Given the description of an element on the screen output the (x, y) to click on. 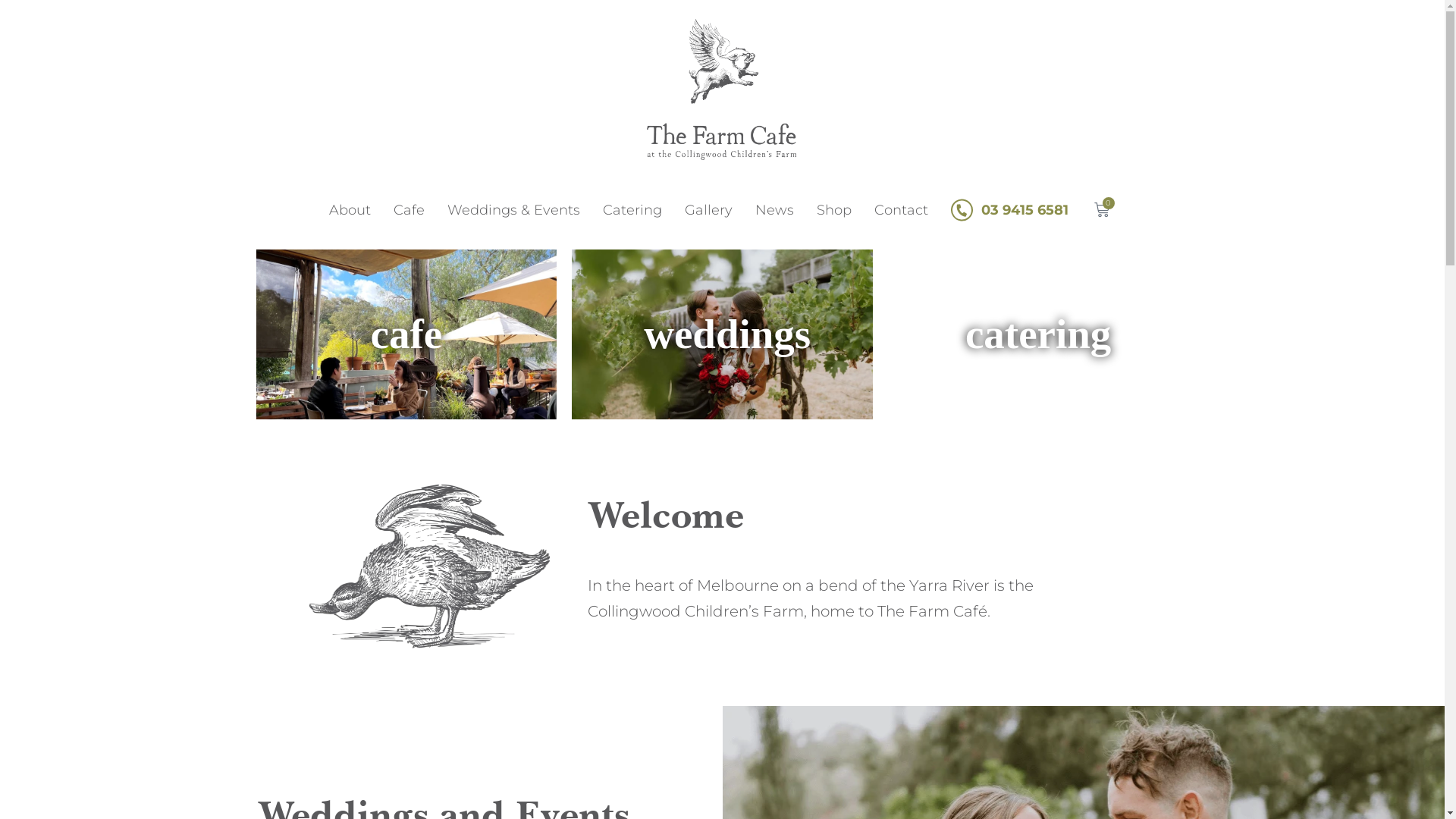
Weddings & Events Element type: text (512, 209)
catering Element type: text (1037, 333)
Shop Element type: text (833, 209)
About Element type: text (348, 209)
Catering Element type: text (632, 209)
cafe Element type: text (406, 333)
Cafe Element type: text (409, 209)
03 9415 6581 Element type: text (1008, 209)
weddings Element type: text (726, 333)
News Element type: text (773, 209)
0 Element type: text (1100, 209)
Gallery Element type: text (708, 209)
Contact Element type: text (900, 209)
